Given the description of an element on the screen output the (x, y) to click on. 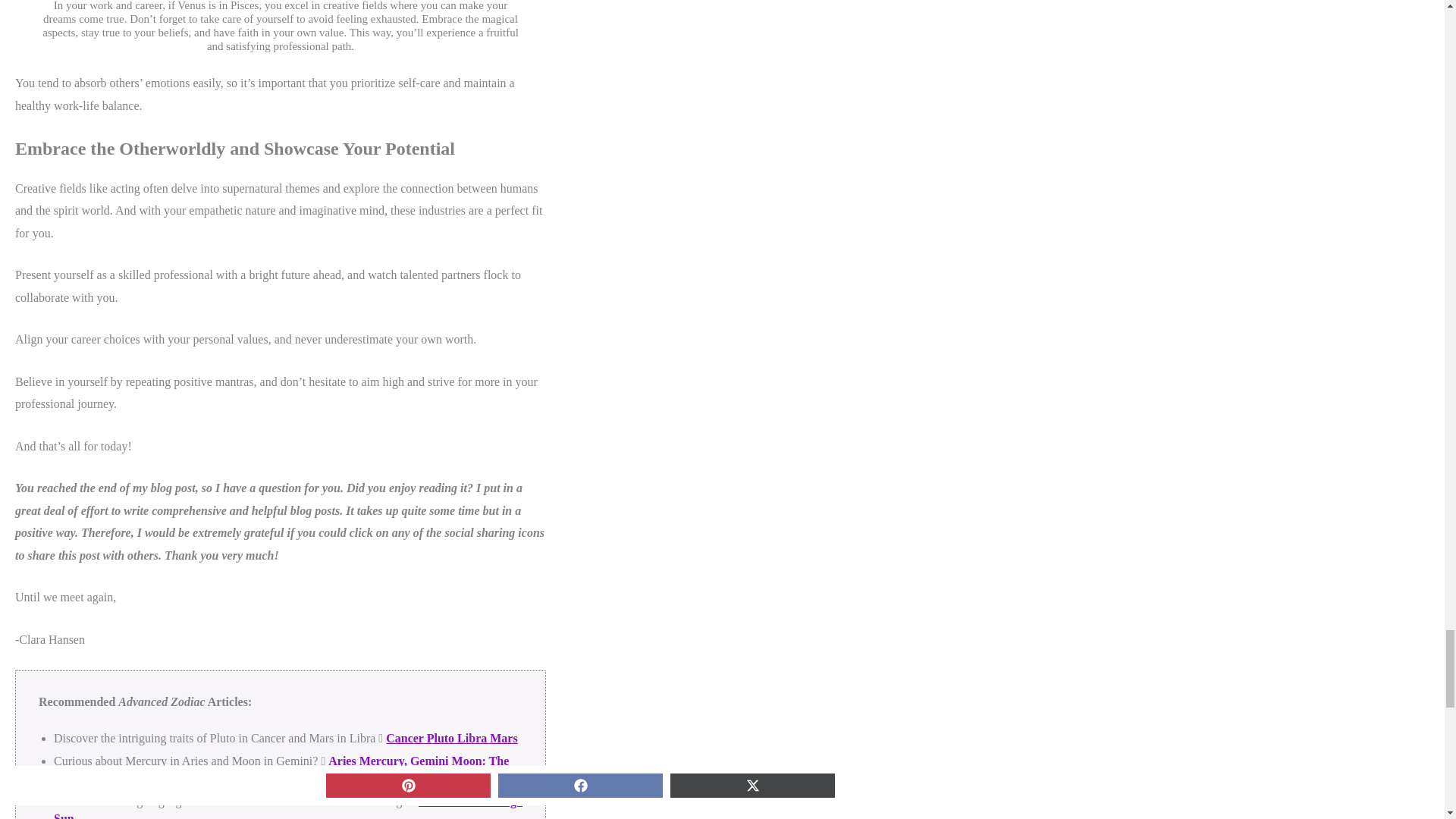
Aries Mercury, Gemini Moon: The Good Guy or Gal (280, 768)
Gemini Moon Virgo Sun (287, 806)
Cancer Pluto Libra Mars (450, 738)
